Given the description of an element on the screen output the (x, y) to click on. 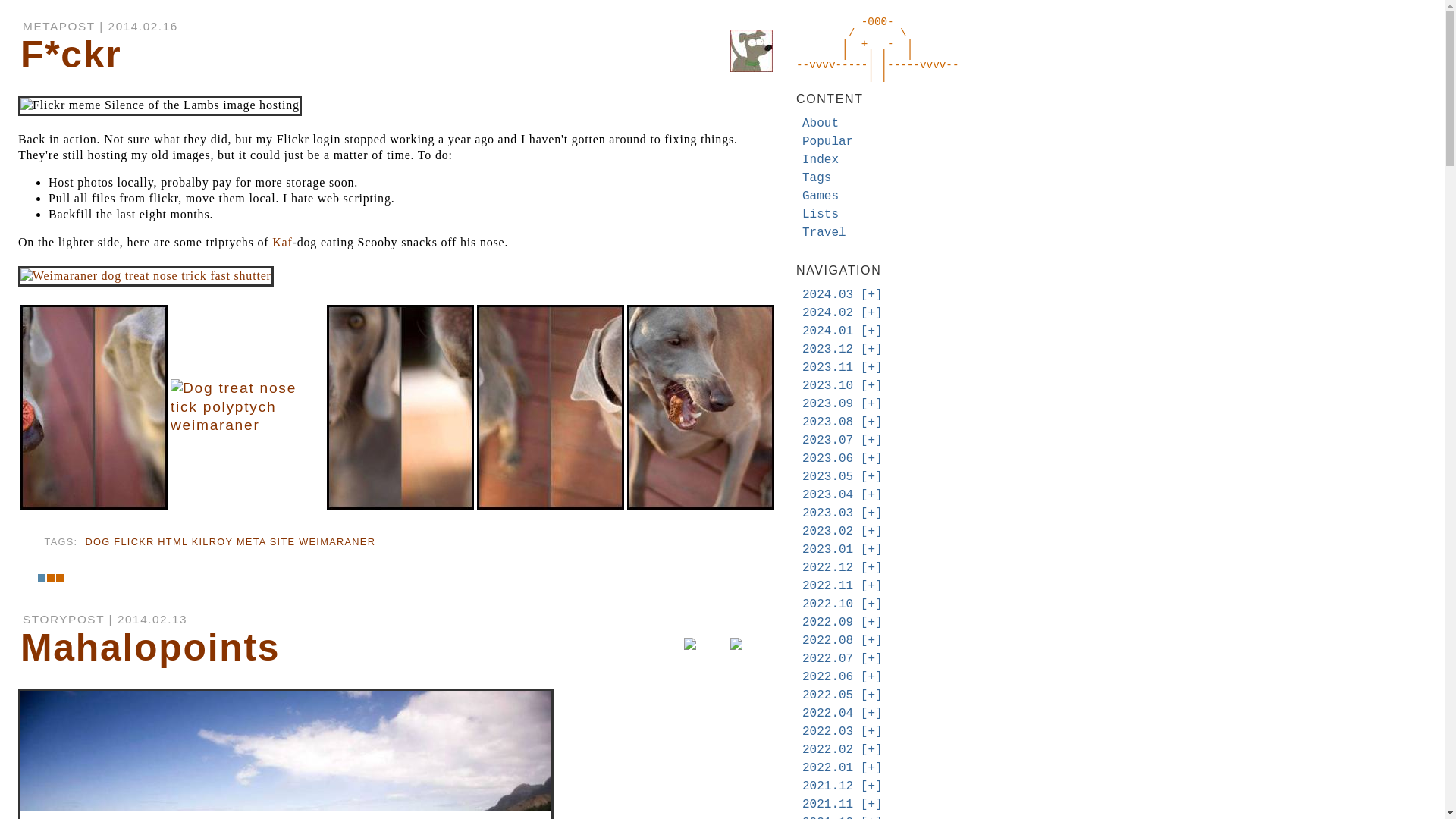
2023.10 (827, 386)
Lists (820, 214)
2023.09 (827, 404)
Slideshow (871, 295)
2023.04 (827, 495)
Popular (827, 141)
2023.03 (827, 513)
2024.03 (827, 295)
2023.08 (827, 422)
Slideshow (871, 367)
